Given the description of an element on the screen output the (x, y) to click on. 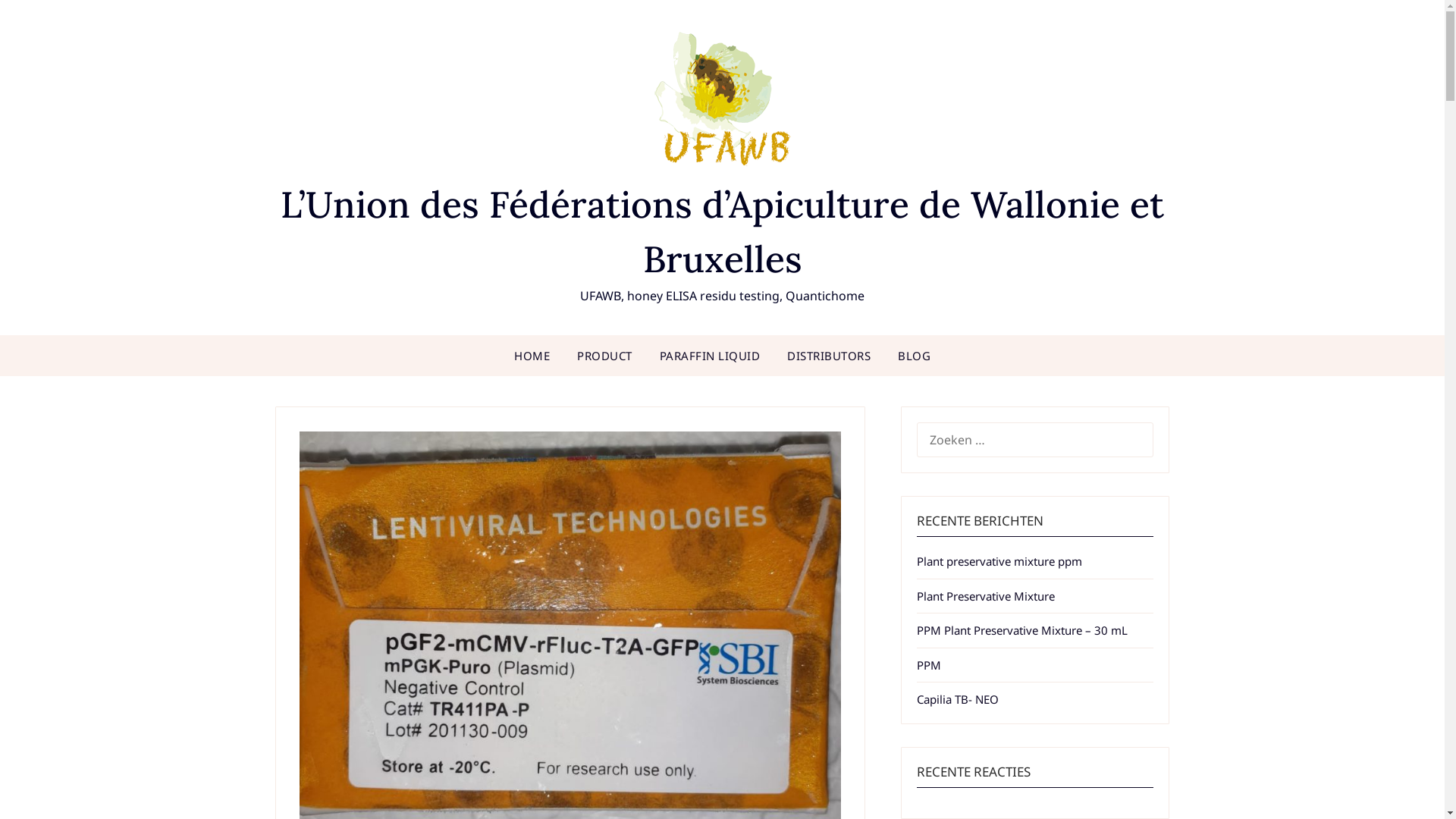
PARAFFIN LIQUID Element type: text (709, 355)
Plant Preservative Mixture Element type: text (985, 595)
DISTRIBUTORS Element type: text (828, 355)
Zoeken Element type: text (39, 21)
PPM Element type: text (928, 664)
BLOG Element type: text (913, 355)
HOME Element type: text (531, 355)
Plant preservative mixture ppm Element type: text (999, 560)
PRODUCT Element type: text (604, 355)
Capilia TB- NEO Element type: text (957, 698)
